Given the description of an element on the screen output the (x, y) to click on. 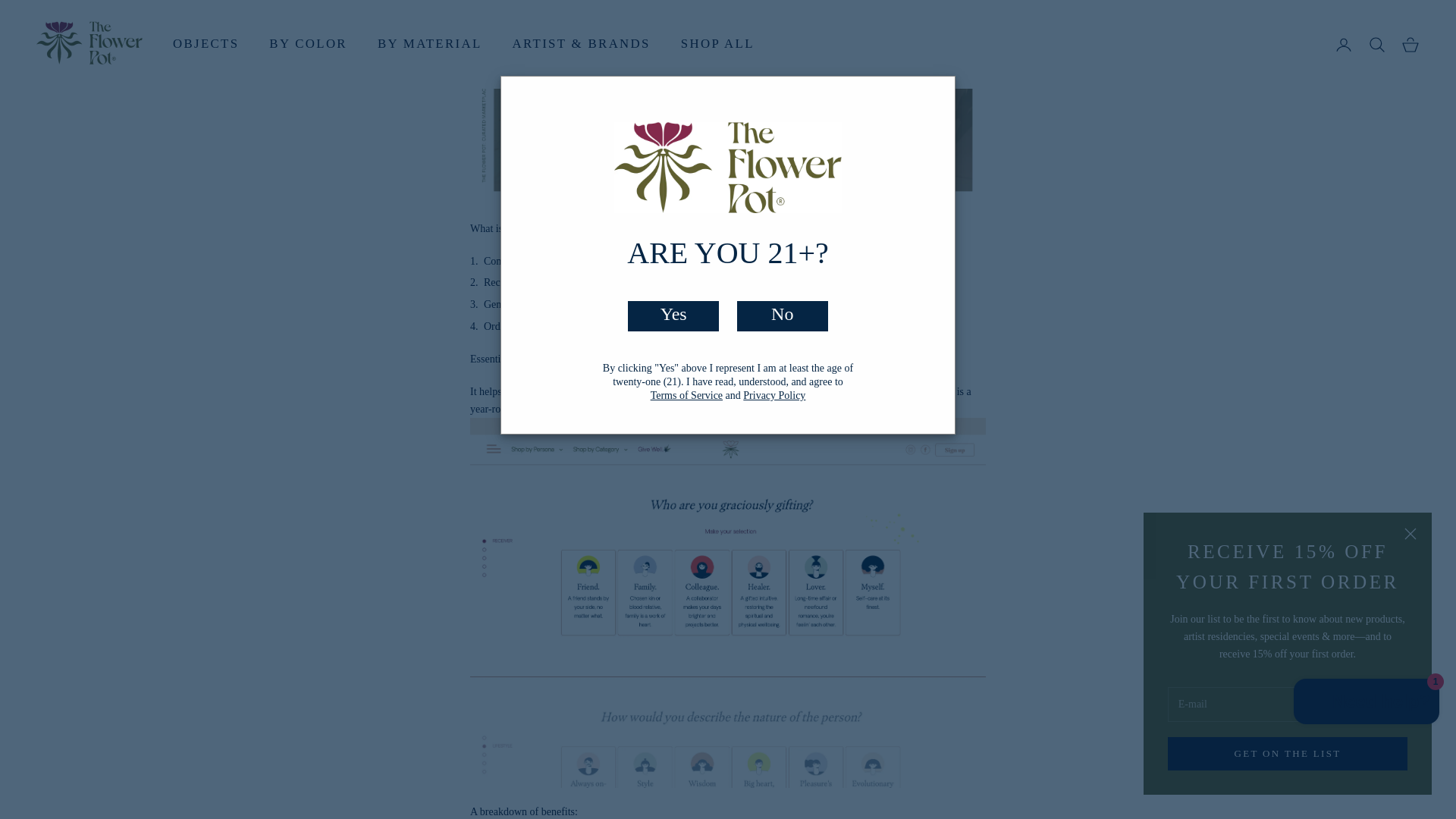
The Flower Pot interactive gift guide (727, 39)
